Given the description of an element on the screen output the (x, y) to click on. 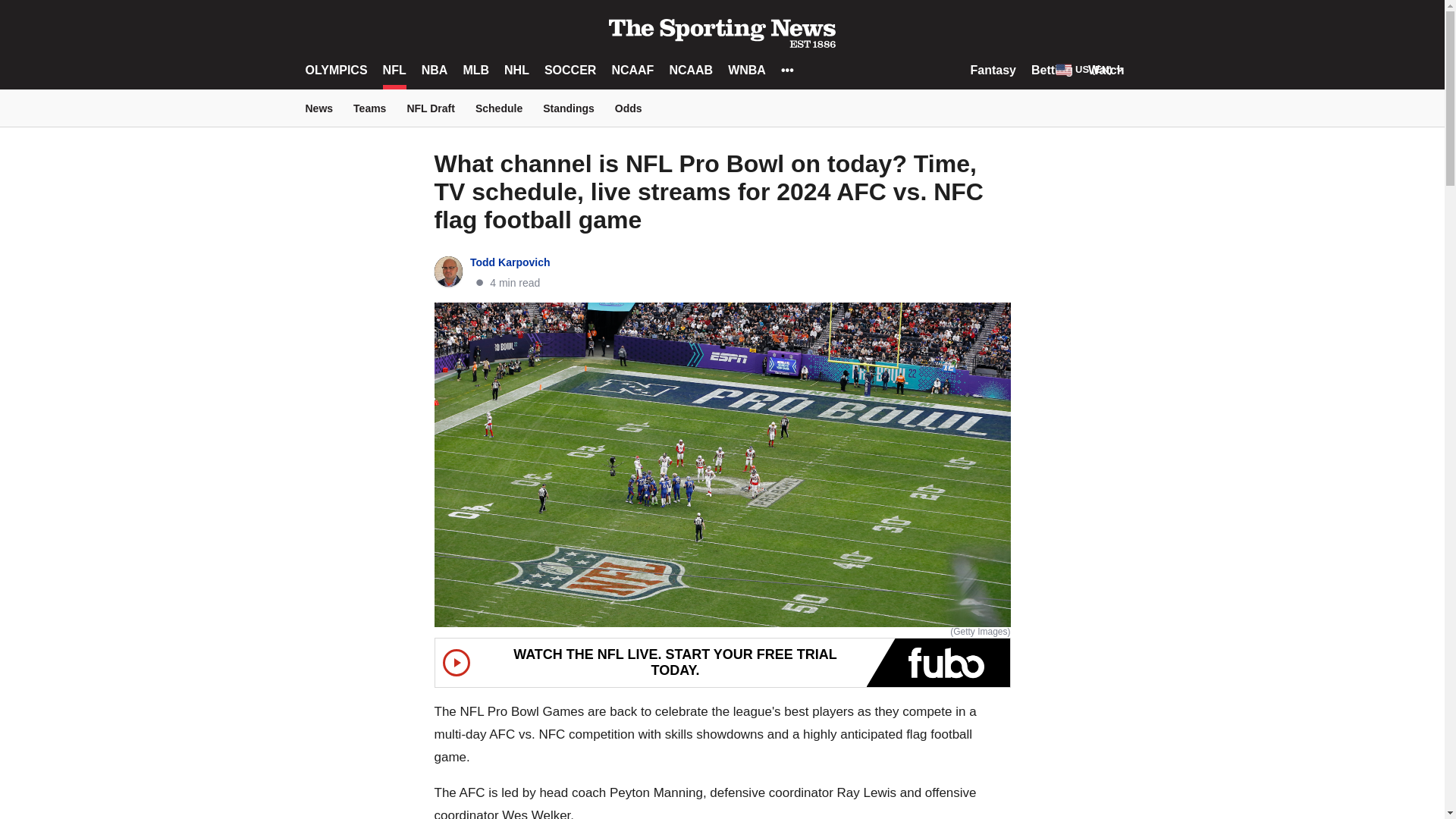
OLYMPICS (335, 70)
WNBA (746, 70)
NCAAF (632, 70)
NCAAB (690, 70)
SOCCER (569, 70)
